Given the description of an element on the screen output the (x, y) to click on. 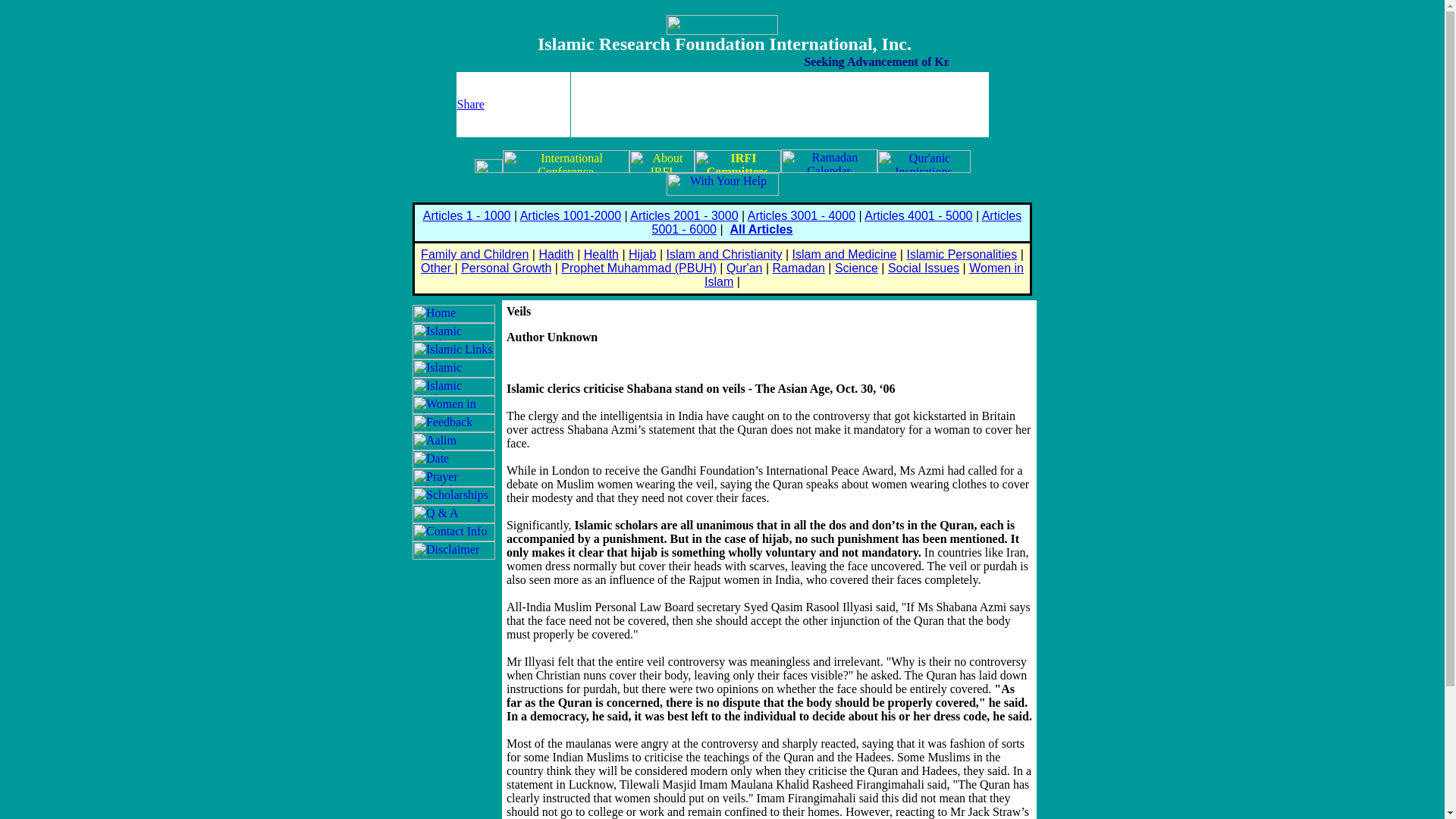
Articles 4001 - 5000 (918, 215)
Articles 5001 - 6000 (837, 222)
Health (600, 254)
Share (470, 103)
Family and Children (474, 254)
Islam and Christianity (724, 254)
Islam and Medicine (844, 254)
Articles 1 - 1000 (467, 215)
Articles 3001 - 4000 (802, 215)
Qur'an (744, 267)
Islamic Personalities (960, 254)
Ramadan (797, 267)
Hadith (555, 254)
Science (855, 267)
Personal Growth (506, 267)
